Given the description of an element on the screen output the (x, y) to click on. 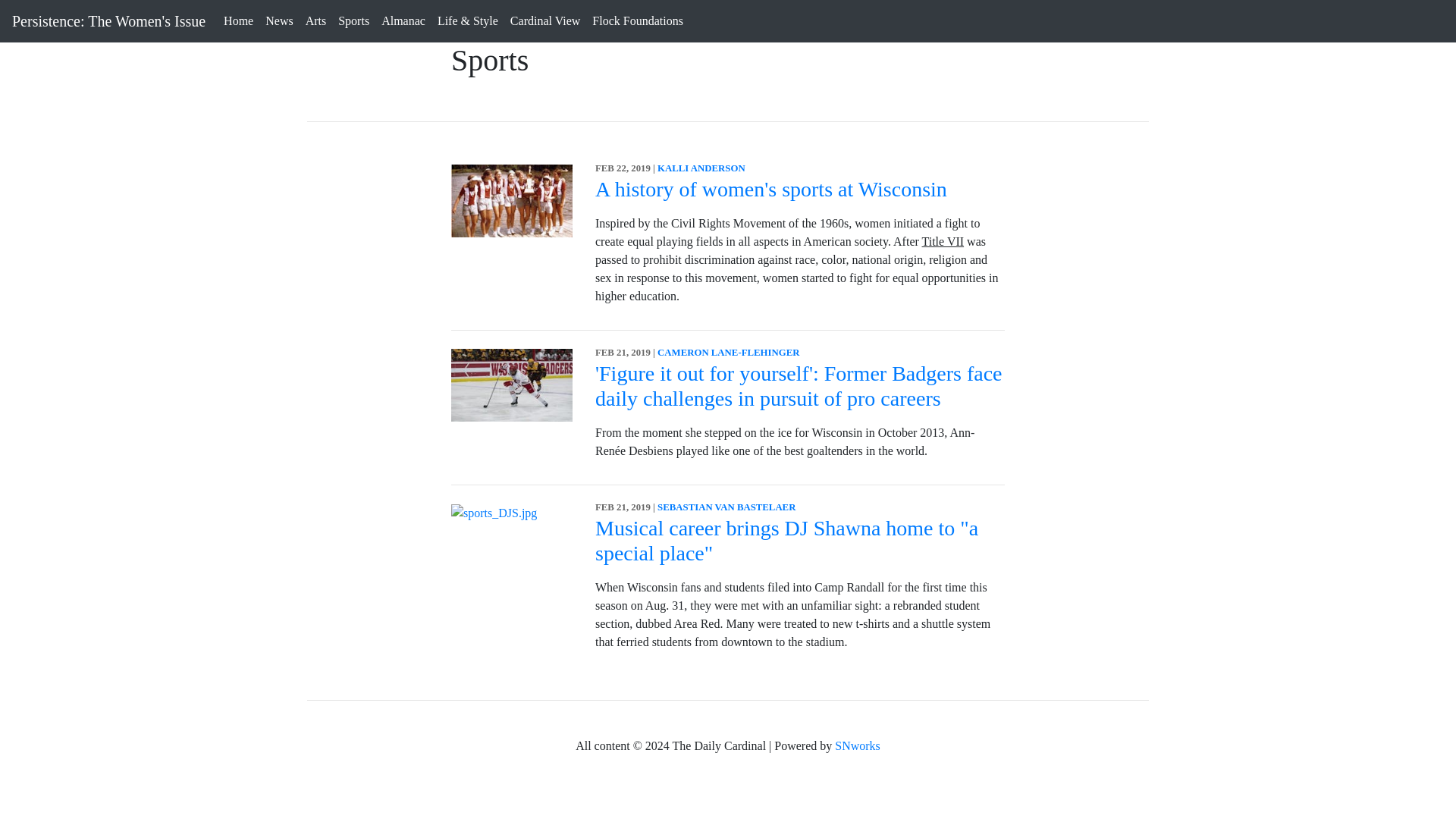
Sports (353, 20)
Persistence: The Women's Issue (108, 20)
Musical career brings DJ Shawna home to "a special place" (786, 540)
SEBASTIAN VAN BASTELAER (726, 507)
KALLI ANDERSON (701, 167)
Almanac (402, 20)
Flock Foundations (637, 20)
SNworks (857, 745)
CAMERON LANE-FLEHINGER (728, 352)
News (278, 20)
